Given the description of an element on the screen output the (x, y) to click on. 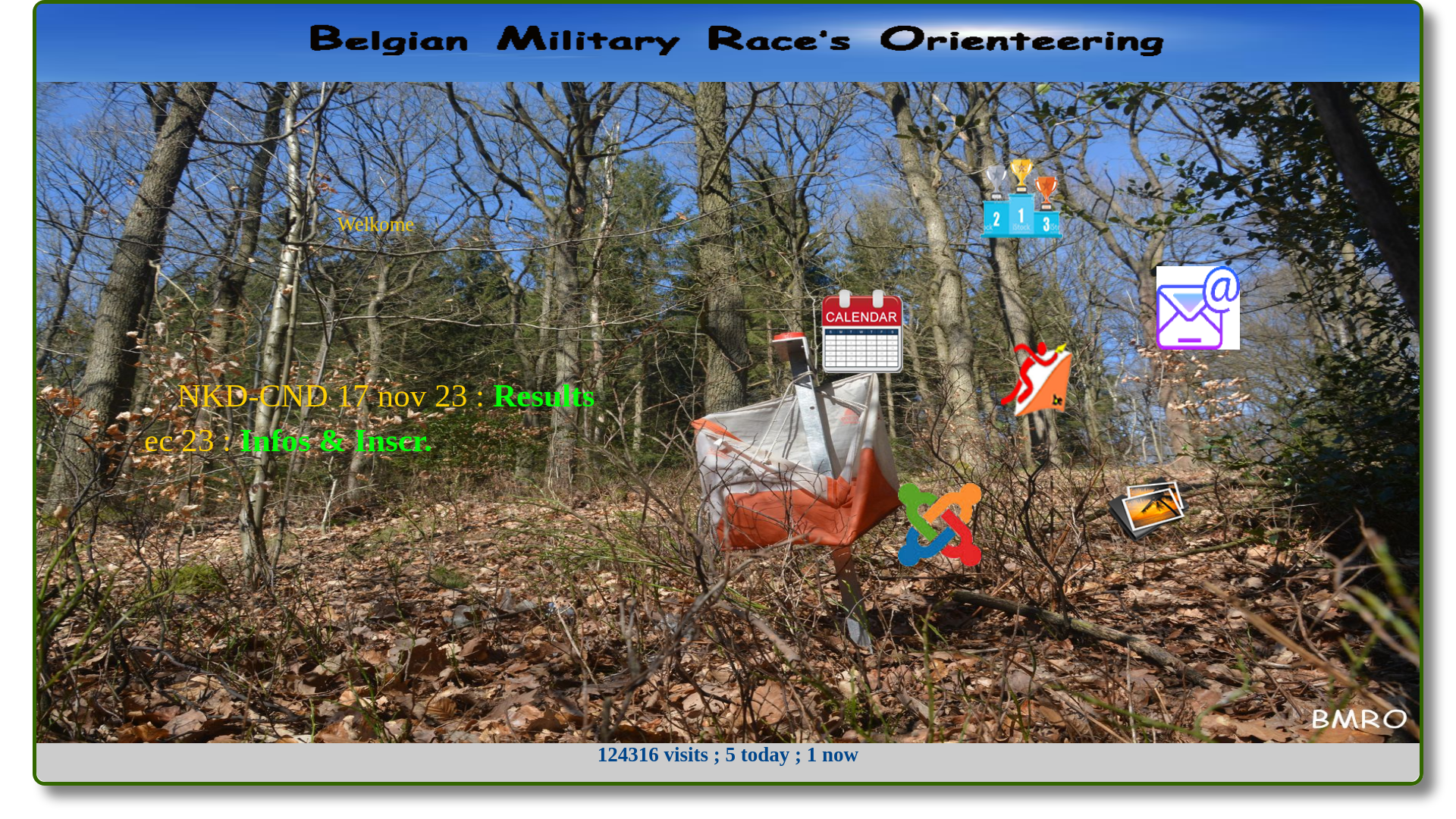
Infos & Inscr. Element type: text (698, 440)
Results Element type: text (816, 395)
